Given the description of an element on the screen output the (x, y) to click on. 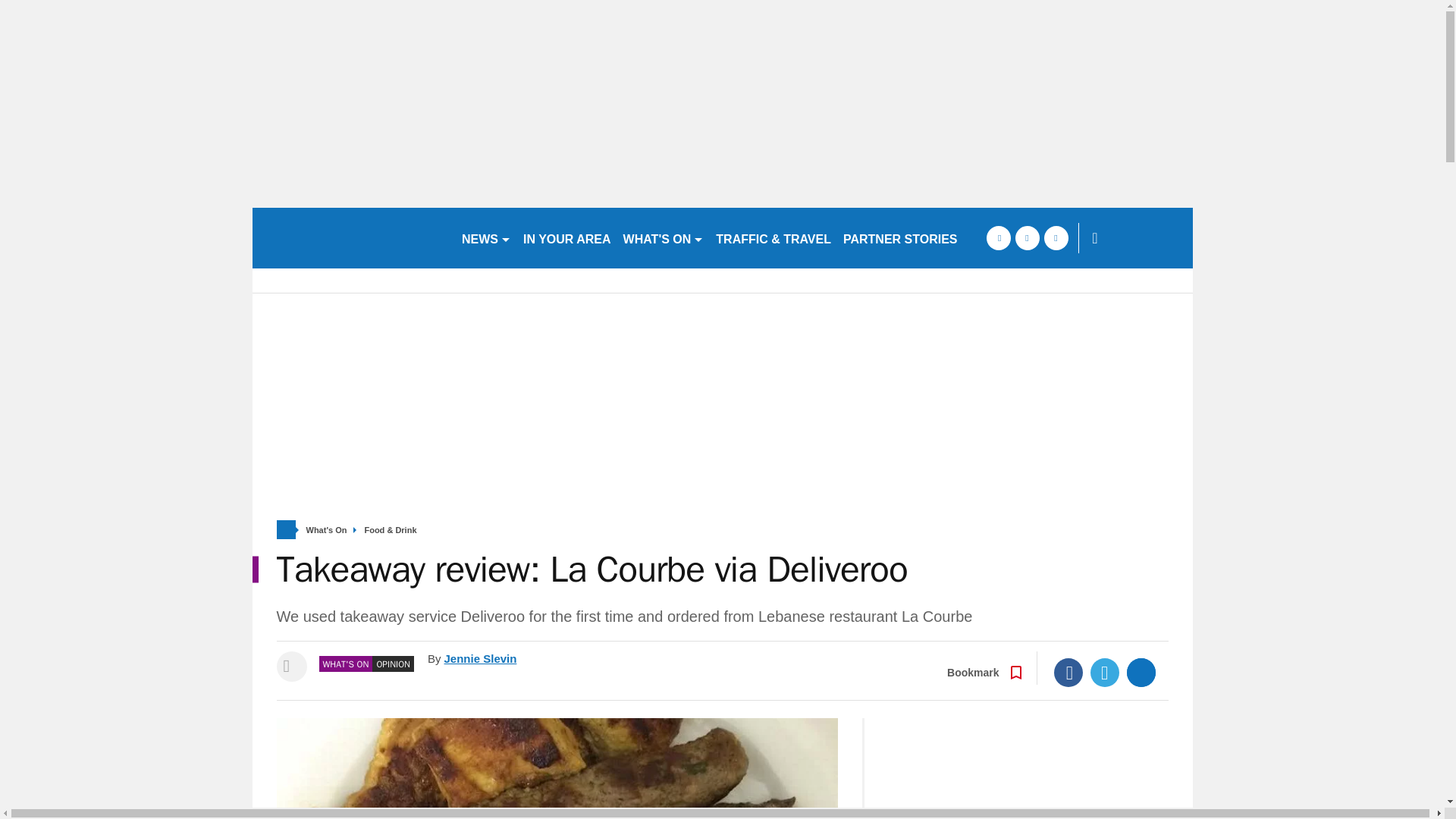
PARTNER STORIES (900, 238)
twitter (1026, 238)
NEWS (485, 238)
WHAT'S ON (663, 238)
getreading (349, 238)
Facebook (1068, 672)
IN YOUR AREA (566, 238)
instagram (1055, 238)
facebook (997, 238)
Twitter (1104, 672)
